Given the description of an element on the screen output the (x, y) to click on. 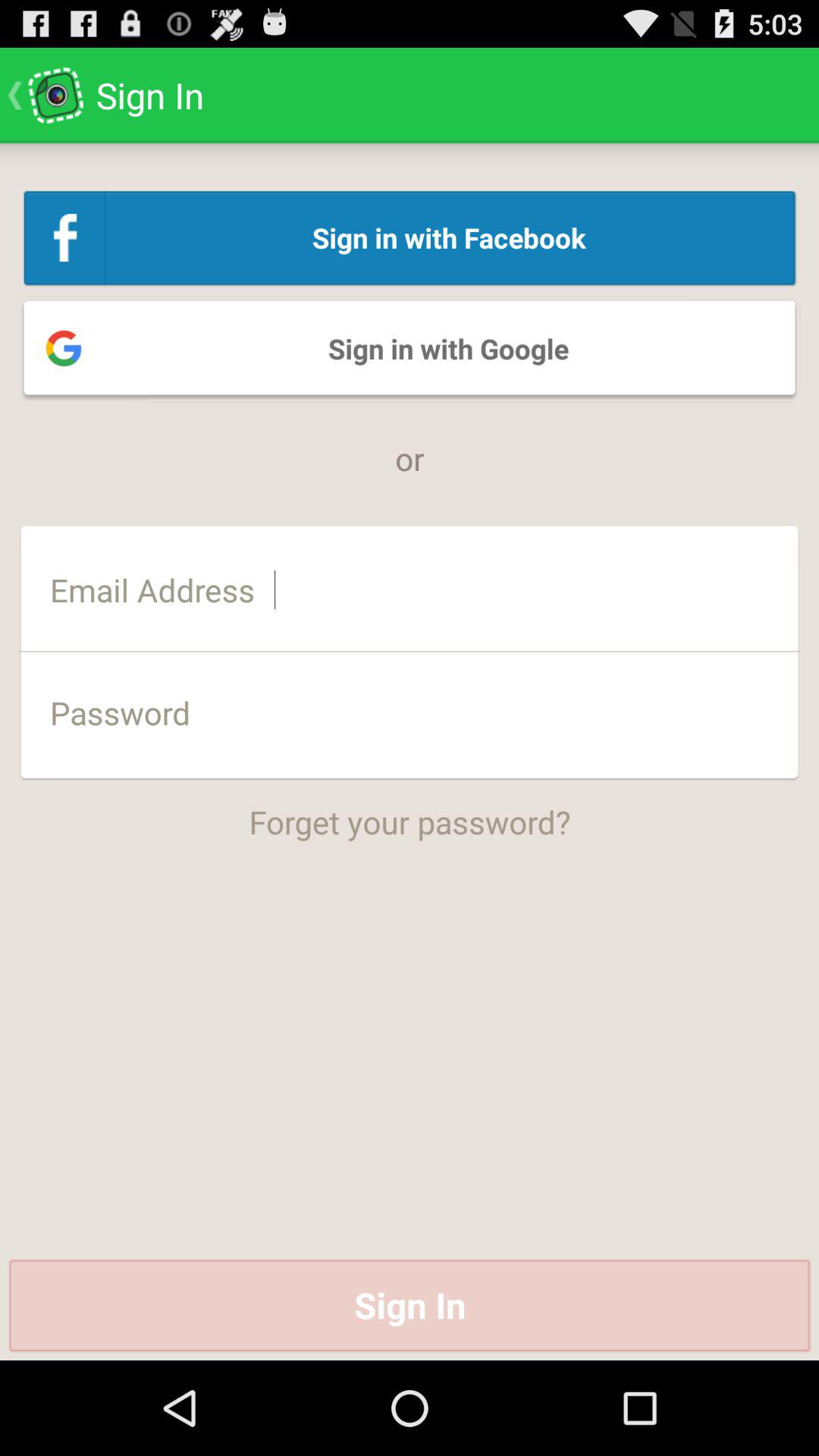
launch app below the password app (409, 811)
